Given the description of an element on the screen output the (x, y) to click on. 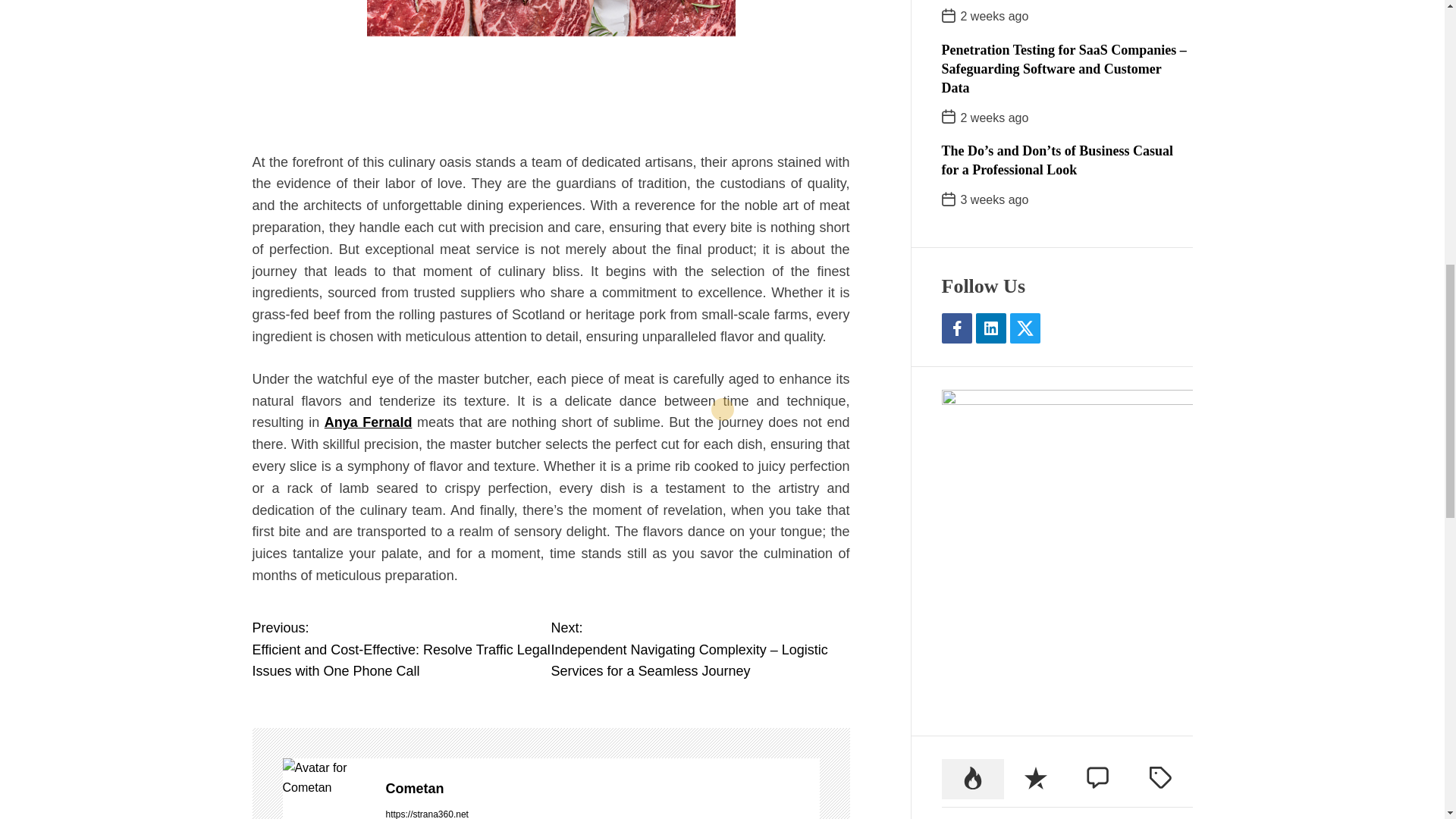
Cometan (325, 777)
Cometan (601, 789)
Cometan (601, 789)
Anya Fernald (368, 421)
facebook (957, 122)
